Given the description of an element on the screen output the (x, y) to click on. 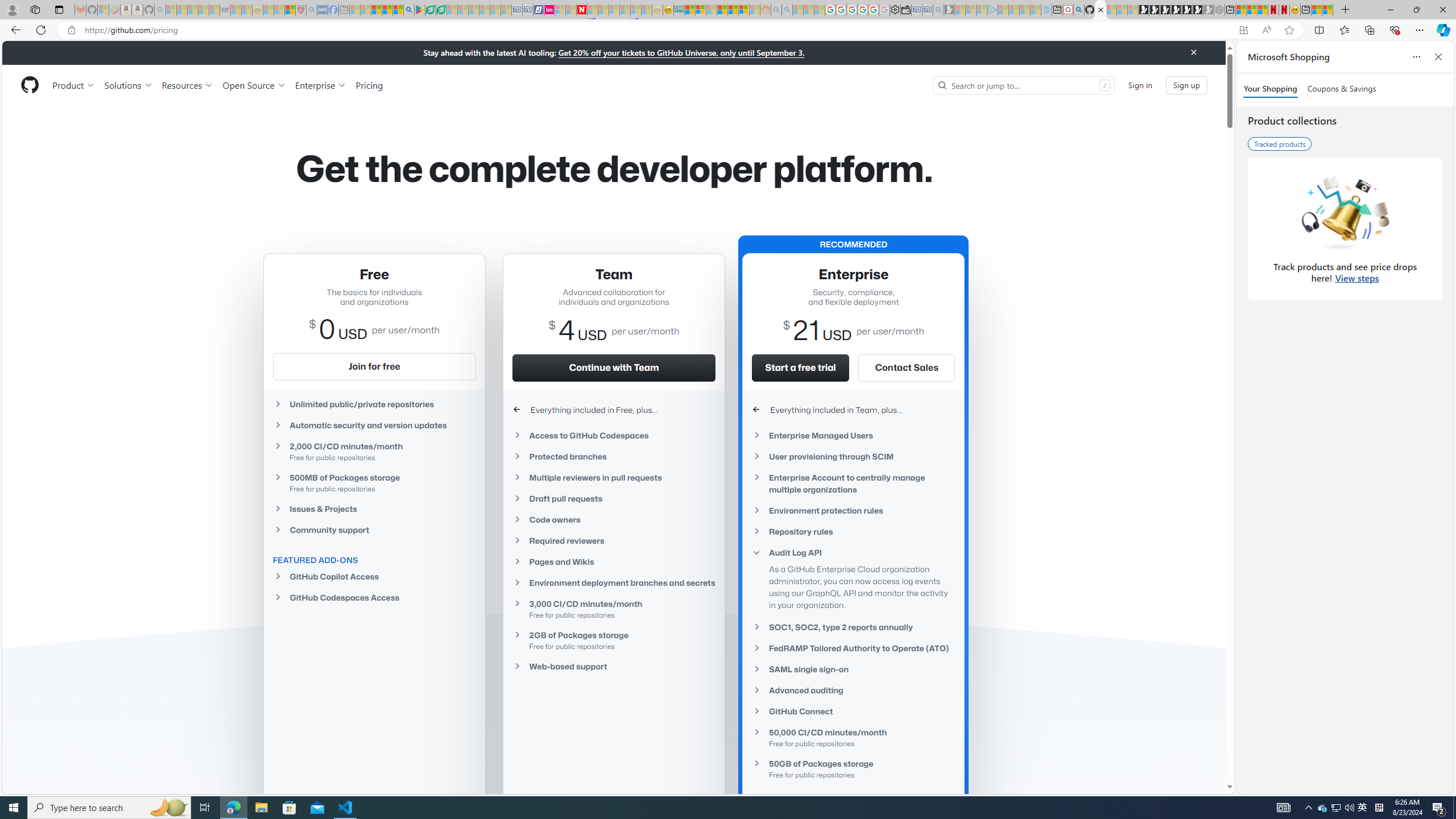
Pages and Wikis (614, 561)
SAML single sign-on (853, 668)
Draft pull requests (614, 498)
Sign up (1186, 84)
Multiple reviewers in pull requests (614, 477)
Required reviewers (614, 540)
Repository rules (853, 531)
Access to GitHub Codespaces (614, 435)
